Given the description of an element on the screen output the (x, y) to click on. 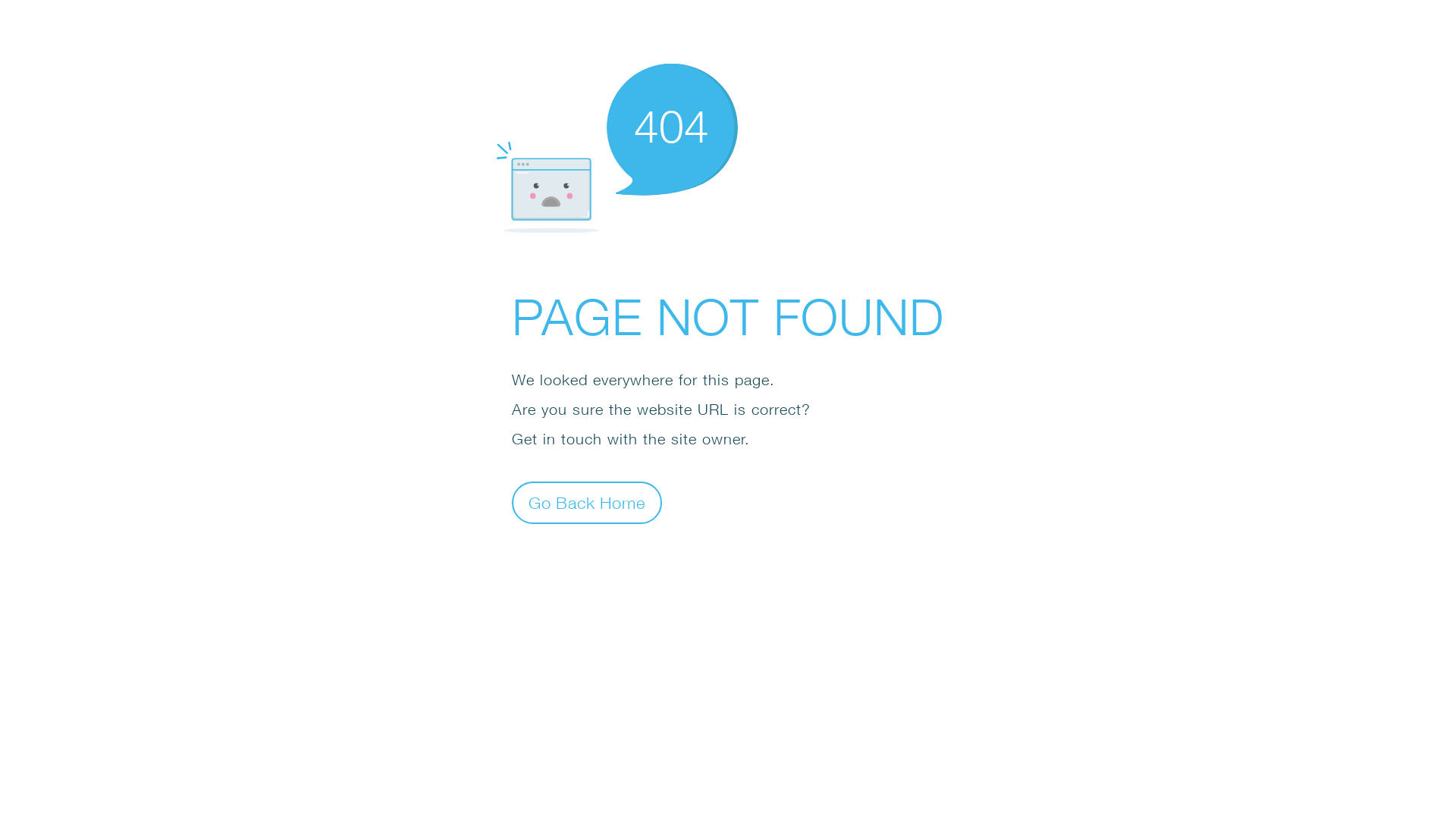
Go Back Home Element type: text (586, 502)
